Given the description of an element on the screen output the (x, y) to click on. 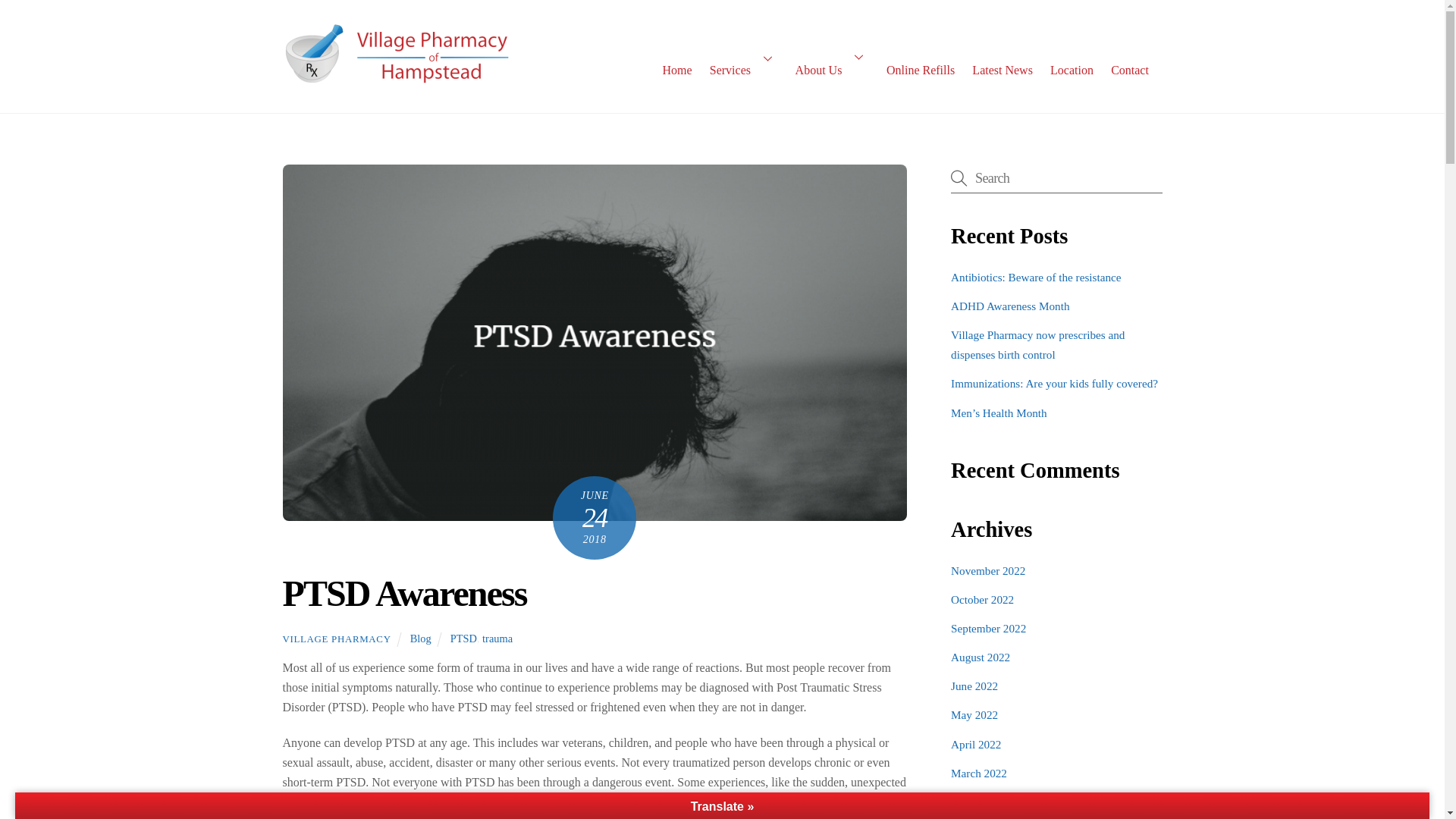
Home (676, 65)
Village Pharmacy of Hampstead (395, 77)
About Us (831, 55)
PTSD Awareness (403, 593)
Location (1071, 61)
VILLAGE PHARMACY (336, 638)
Immunizations: Are your kids fully covered? (1053, 382)
ADHD Awareness Month (1009, 305)
Village Pharmacy now prescribes and dispenses birth control (1037, 344)
Latest News (1003, 58)
